Given the description of an element on the screen output the (x, y) to click on. 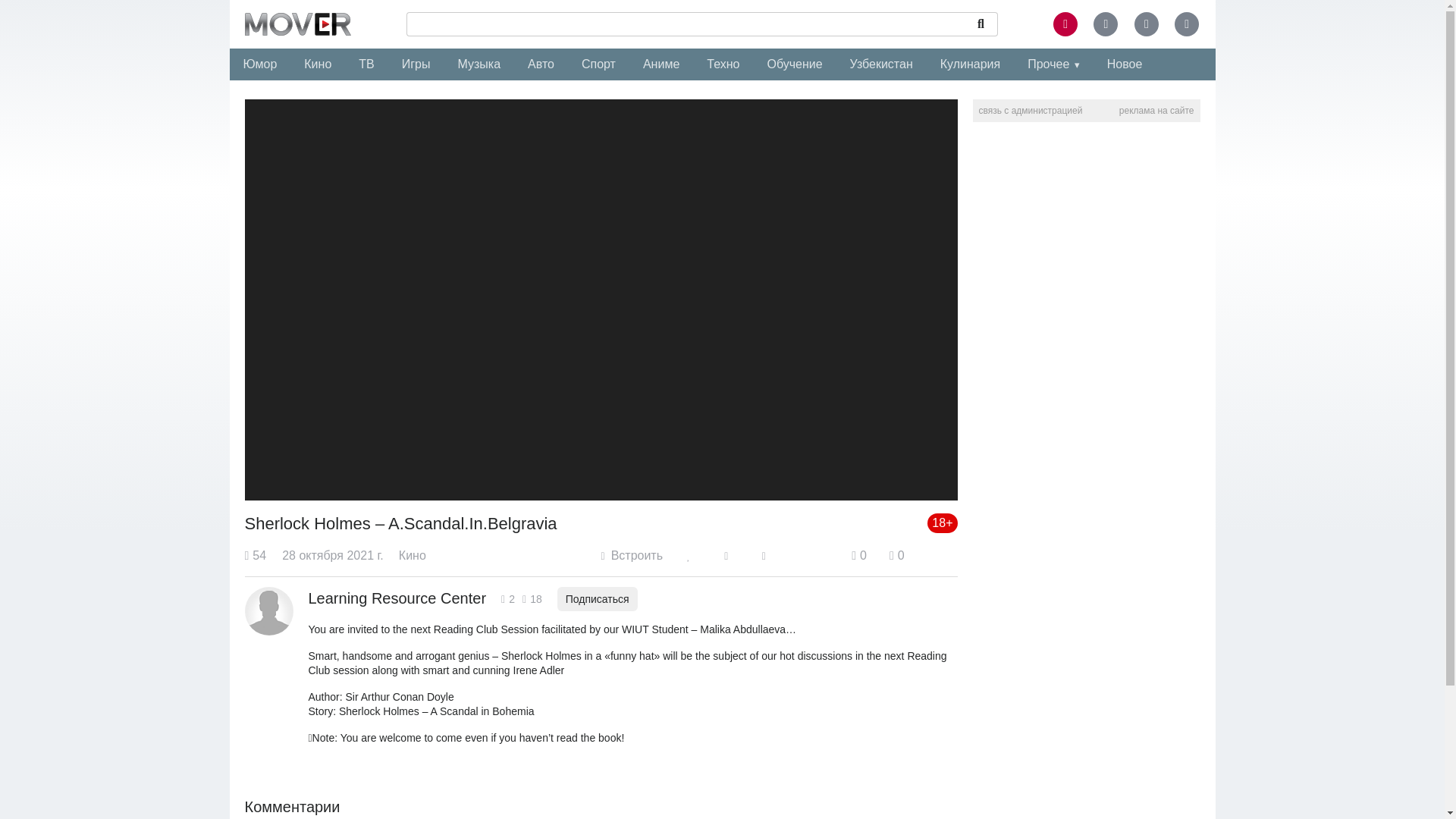
0 (896, 555)
0 (858, 555)
Learning Resource Center (396, 597)
